Given the description of an element on the screen output the (x, y) to click on. 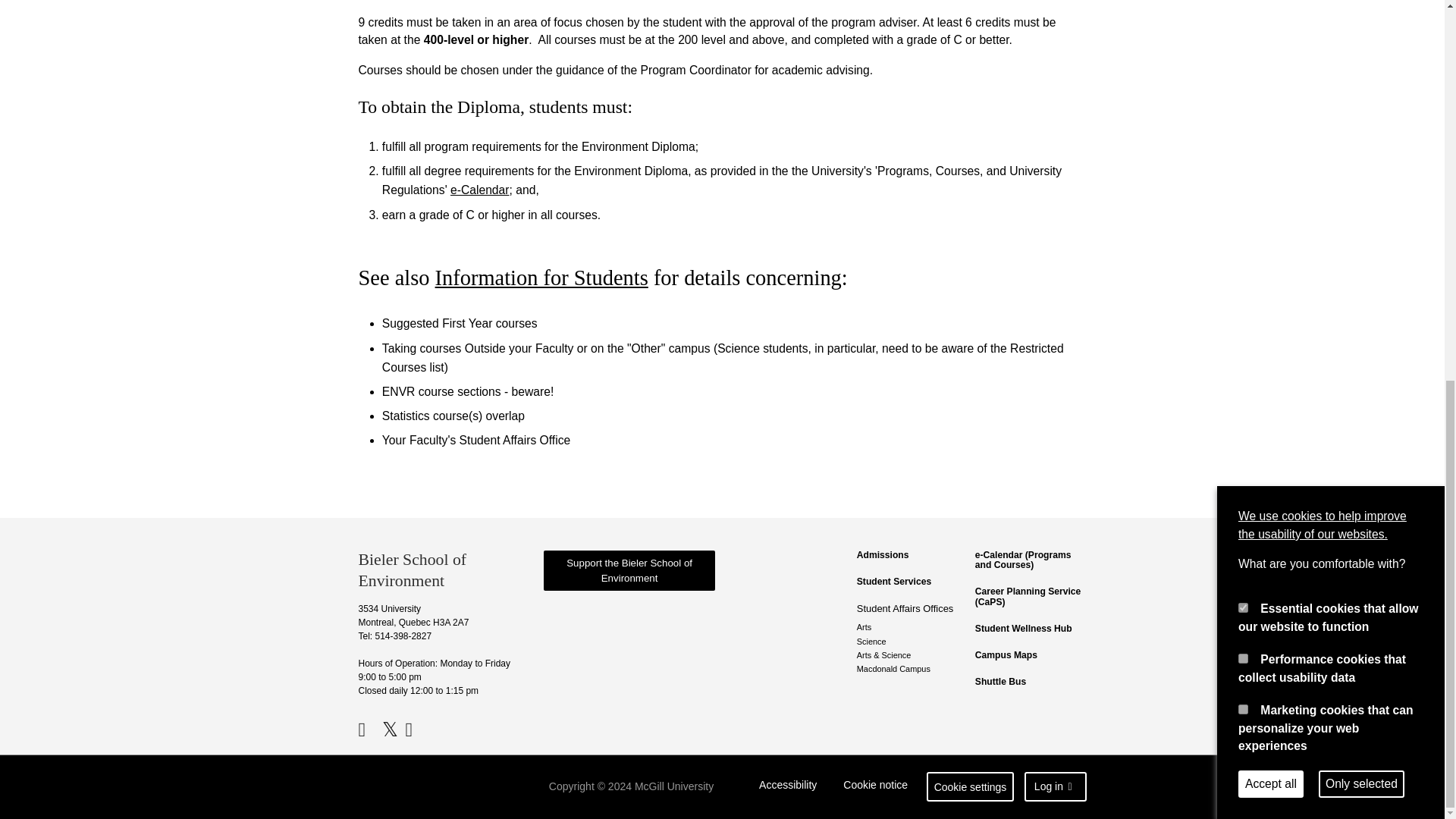
Science (912, 641)
Mac (912, 668)
Student Affairs Offices (912, 608)
e-Calendar (479, 189)
Campus Maps (1030, 655)
Student Services (912, 582)
Science (912, 641)
Faculty of Arts (912, 626)
marketing (1243, 3)
Student Wellness Hub  (1030, 628)
